Given the description of an element on the screen output the (x, y) to click on. 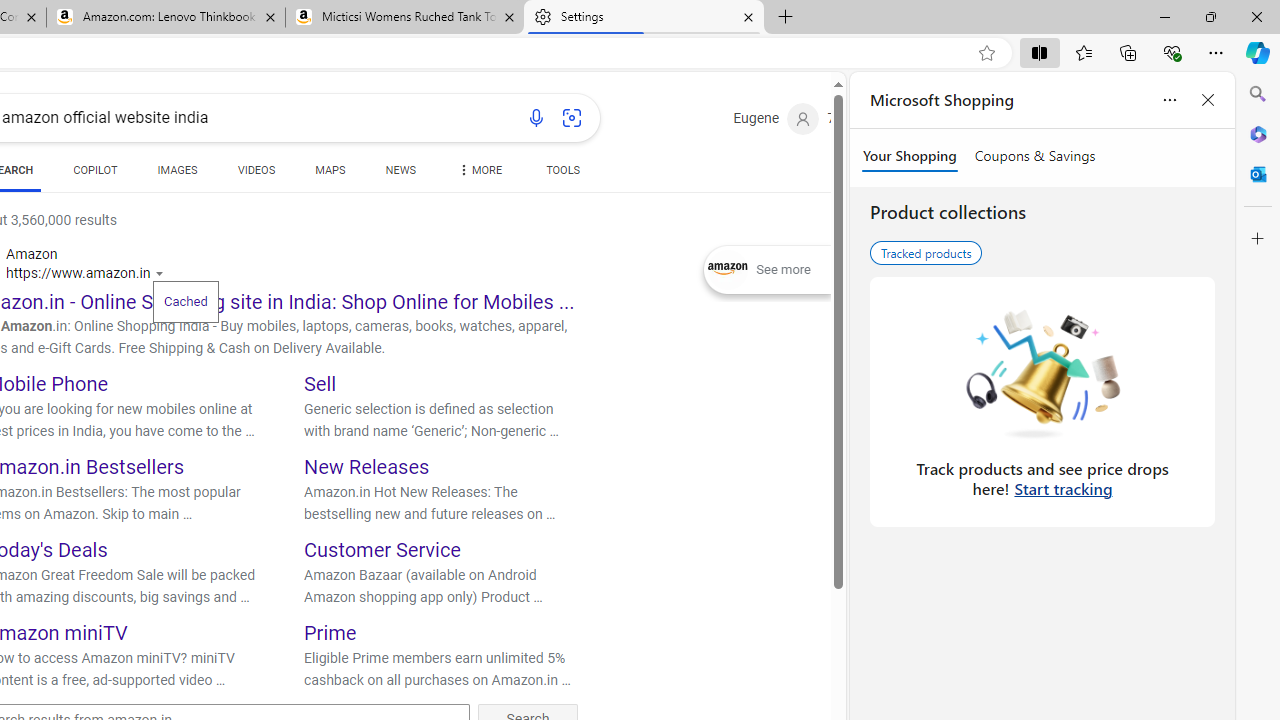
Eugene (776, 119)
Search using voice (536, 117)
